Given the description of an element on the screen output the (x, y) to click on. 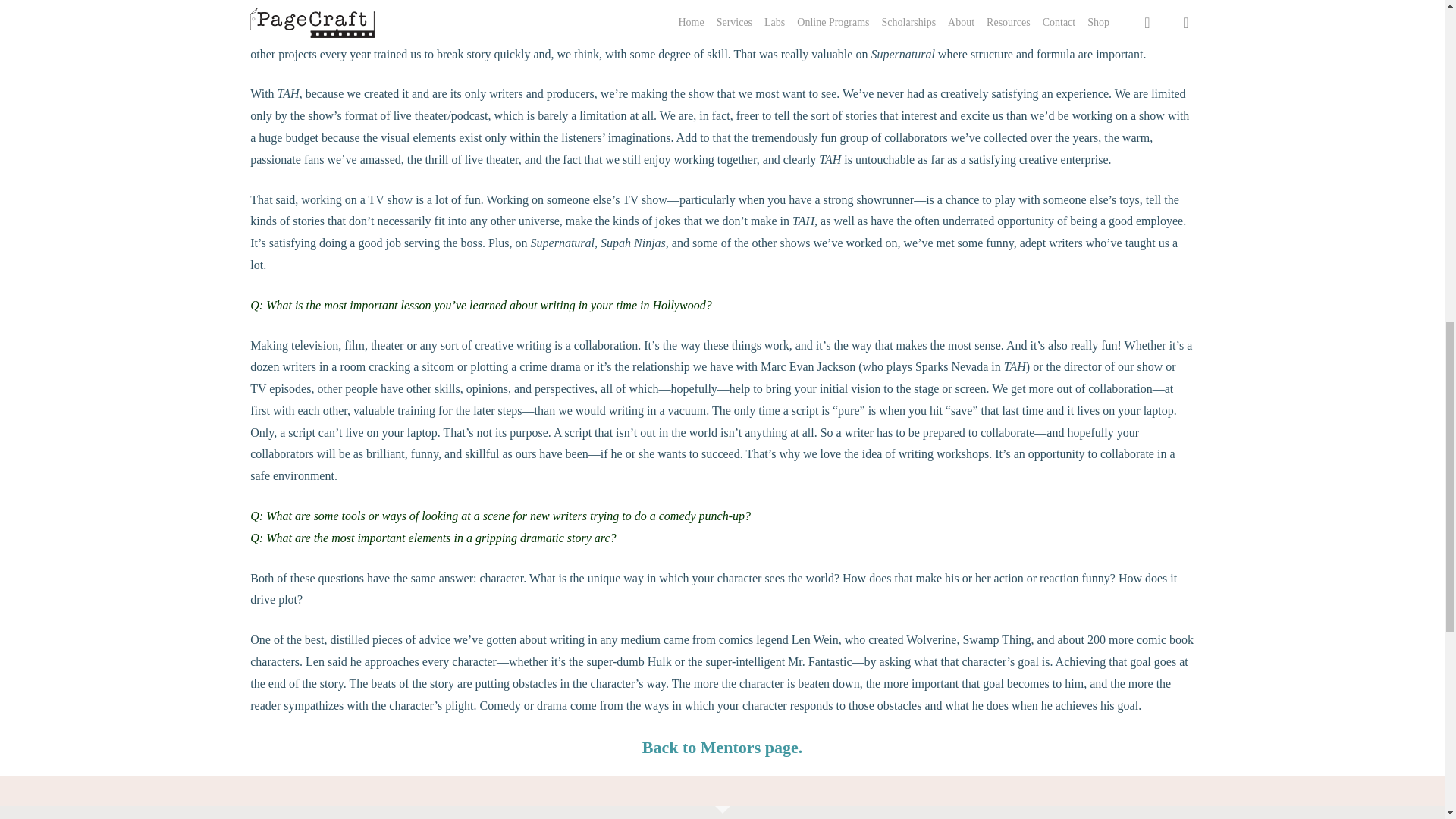
Instructors (722, 746)
